Given the description of an element on the screen output the (x, y) to click on. 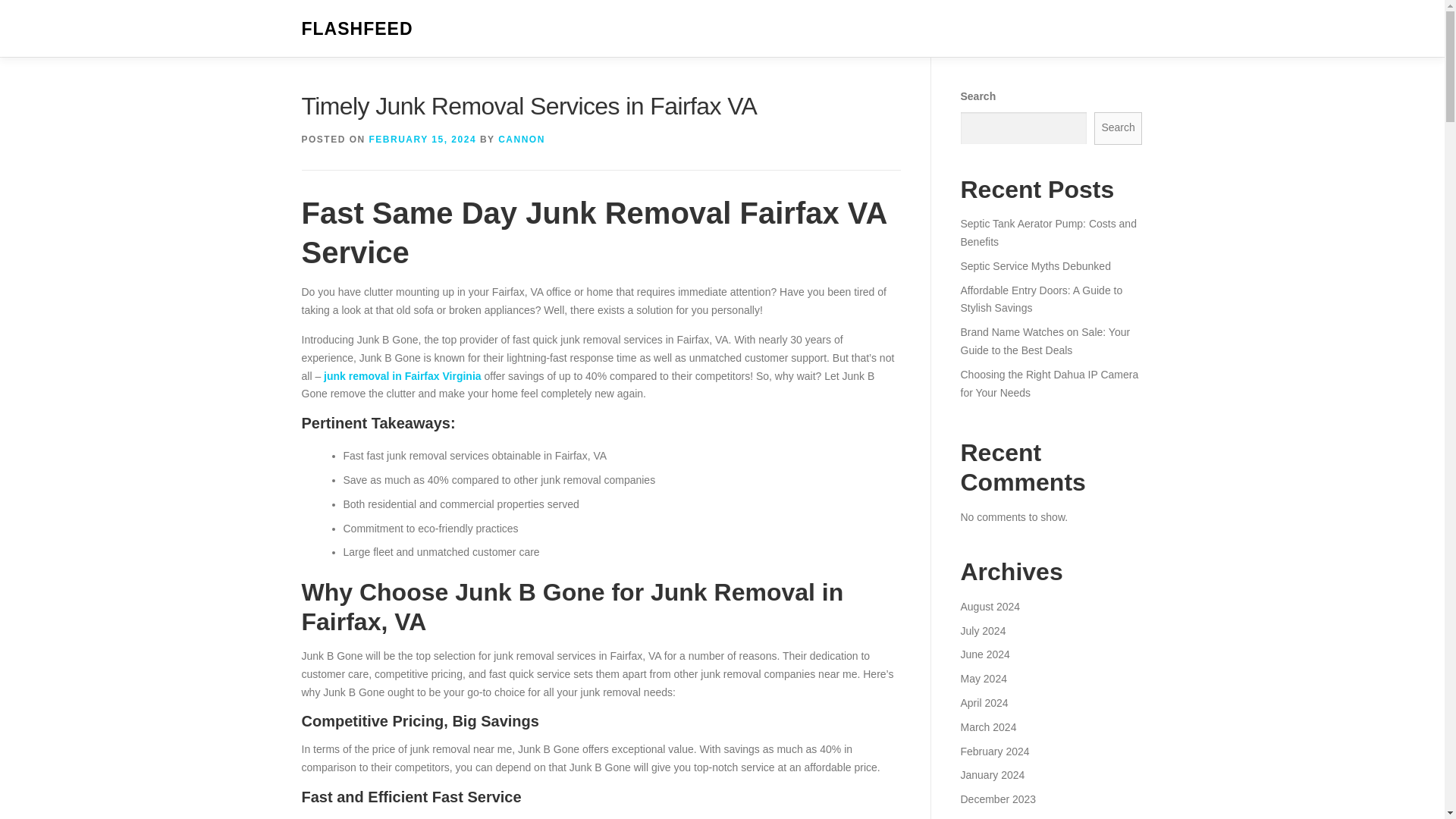
CANNON (520, 139)
Affordable Entry Doors: A Guide to Stylish Savings (1040, 299)
November 2023 (997, 818)
April 2024 (983, 702)
junk removal in Fairfax Virginia (401, 376)
June 2024 (984, 654)
FEBRUARY 15, 2024 (423, 139)
Septic Tank Aerator Pump: Costs and Benefits (1047, 232)
Brand Name Watches on Sale: Your Guide to the Best Deals (1044, 340)
Choosing the Right Dahua IP Camera for Your Needs (1048, 383)
